Given the description of an element on the screen output the (x, y) to click on. 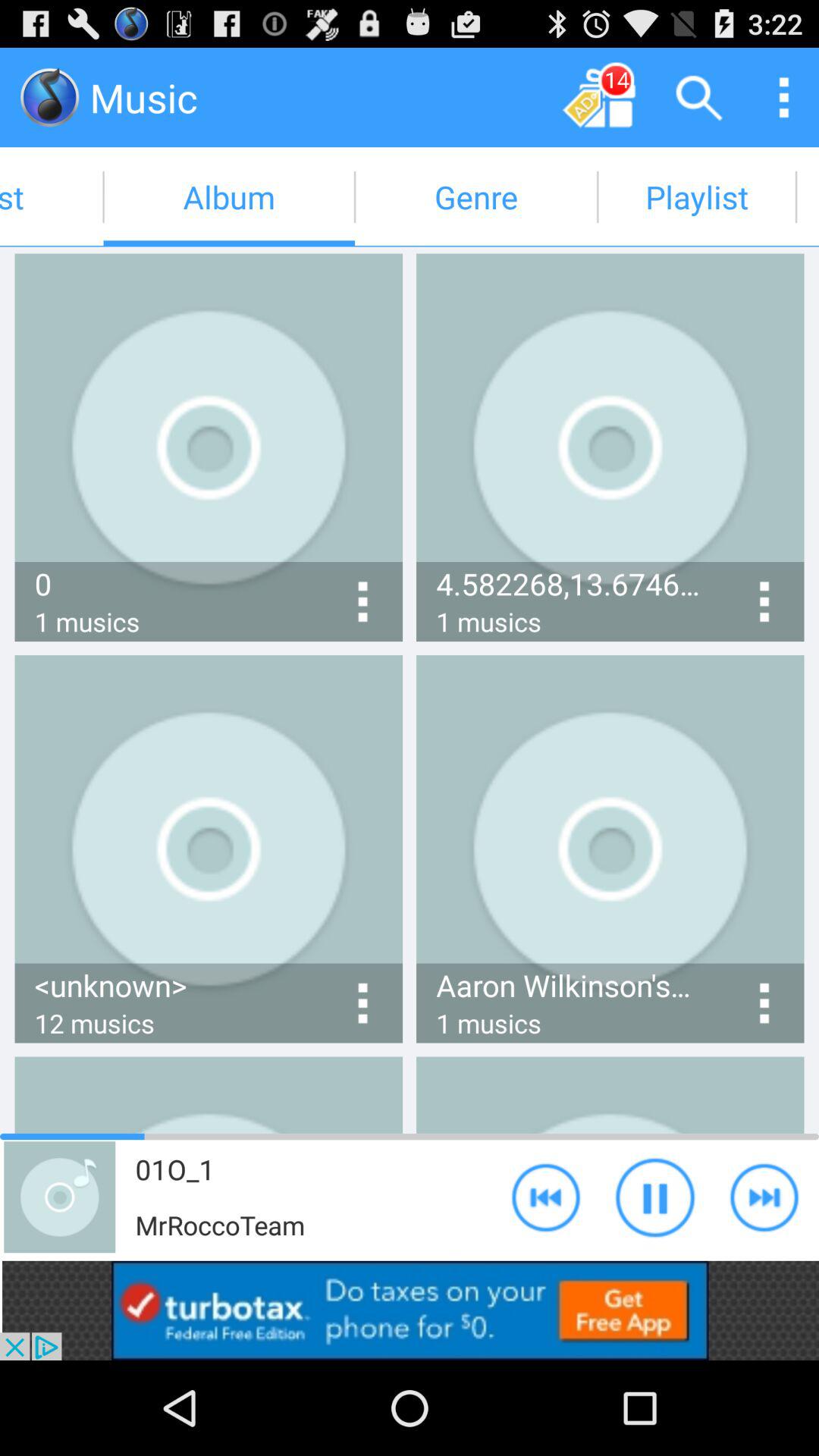
click the music icon (49, 97)
